Given the description of an element on the screen output the (x, y) to click on. 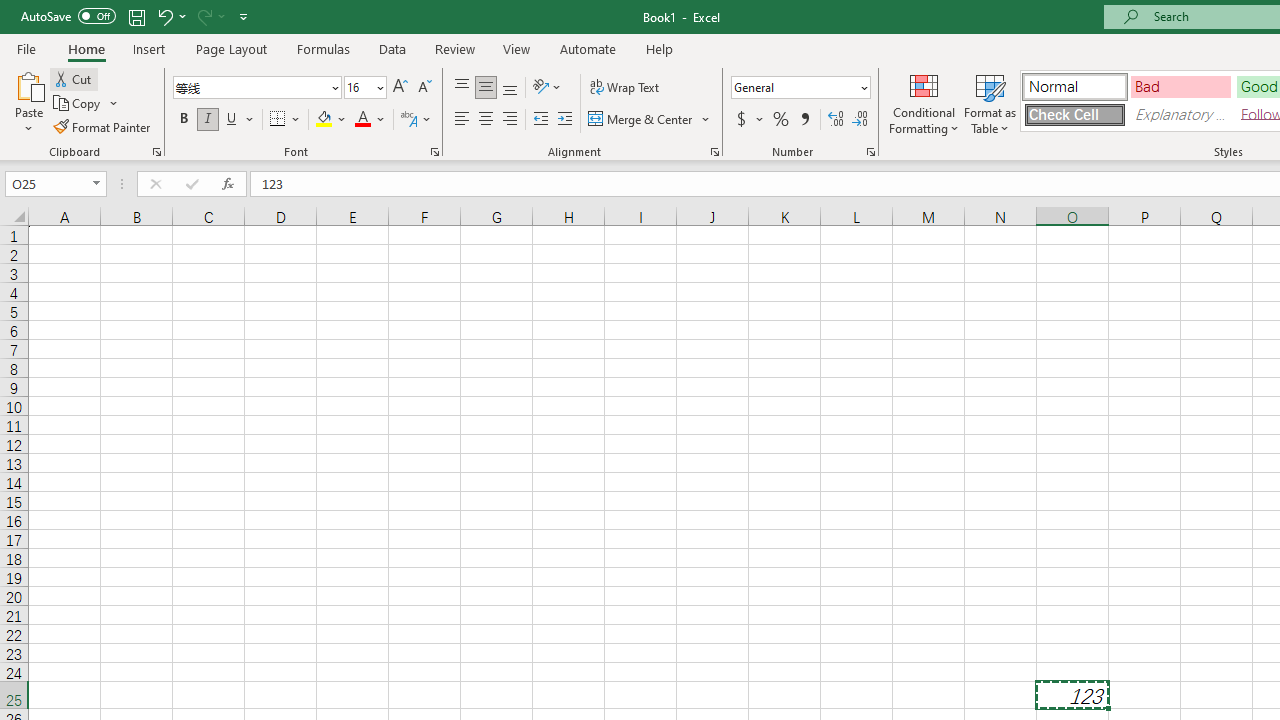
Cut (73, 78)
Format Cell Font (434, 151)
Fill Color (331, 119)
Conditional Formatting (924, 102)
